Given the description of an element on the screen output the (x, y) to click on. 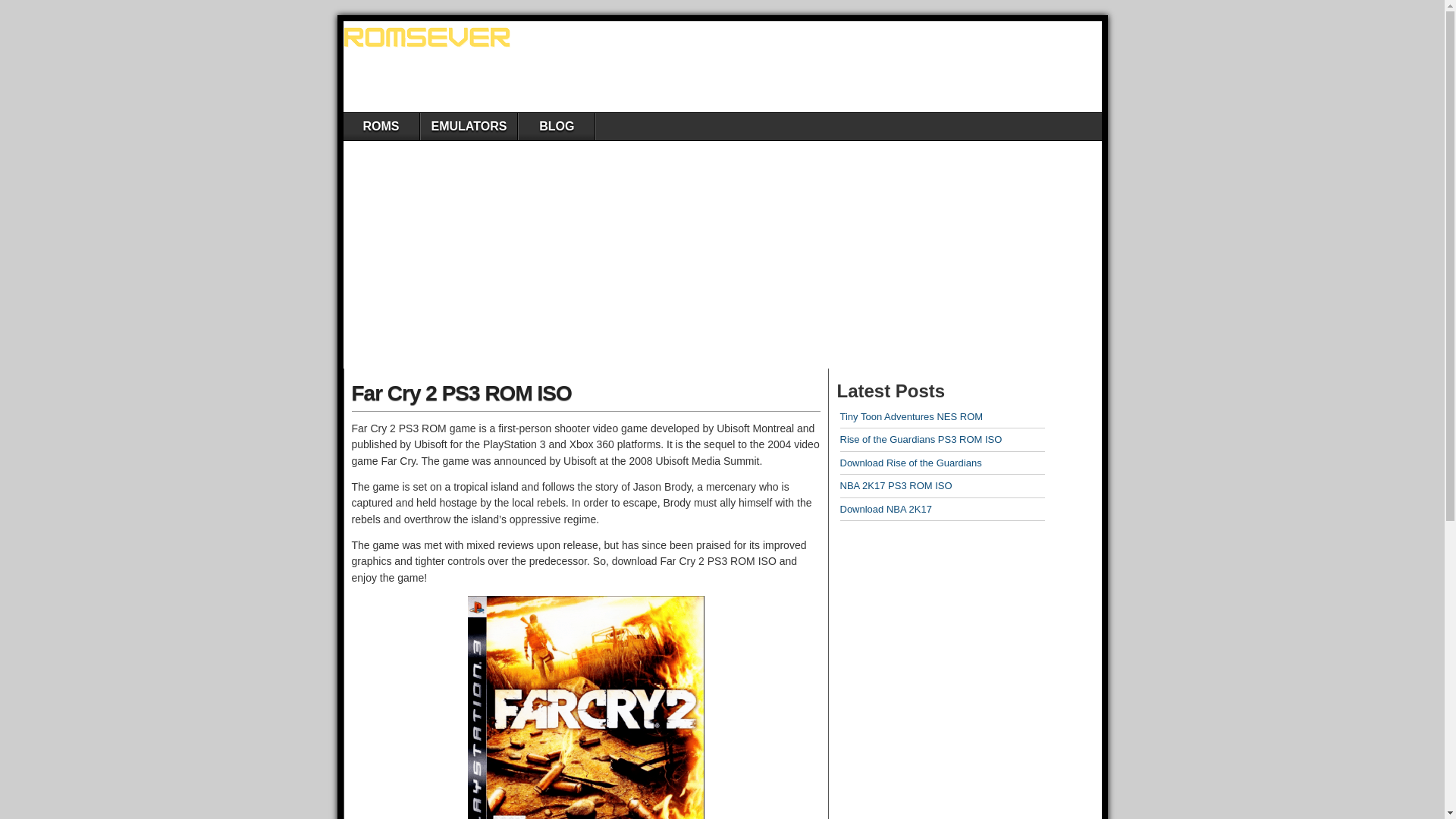
Download Rise of the Guardians (910, 462)
ROMS (380, 126)
Tiny Toon Adventures NES ROM (912, 416)
Far Cry 2 PS3 ROM ISO (462, 392)
Download NBA 2K17 (885, 509)
NBA 2K17 PS3 ROM ISO (896, 485)
BLOG (556, 126)
Rise of the Guardians PS3 ROM ISO (921, 439)
EMULATORS (468, 126)
